Given the description of an element on the screen output the (x, y) to click on. 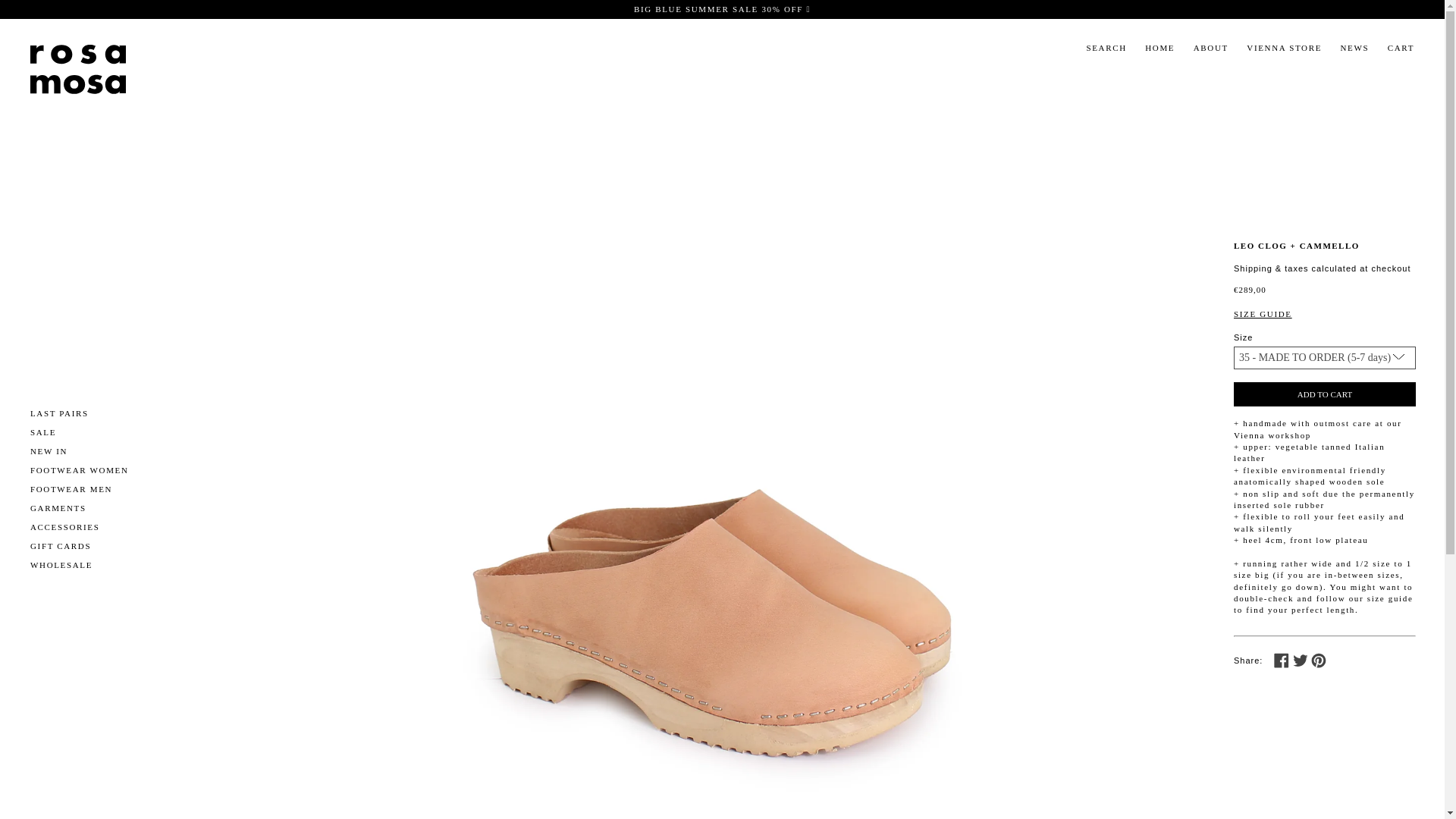
ADD TO CART (1324, 394)
ACCESSORIES (65, 525)
GARMENTS (57, 507)
FOOTWEAR MEN (71, 488)
FOOTWEAR WOMEN (79, 470)
NEW IN (48, 450)
SEARCH (1111, 47)
GIFT CARDS (60, 545)
CART (1408, 47)
SALE (43, 431)
